Given the description of an element on the screen output the (x, y) to click on. 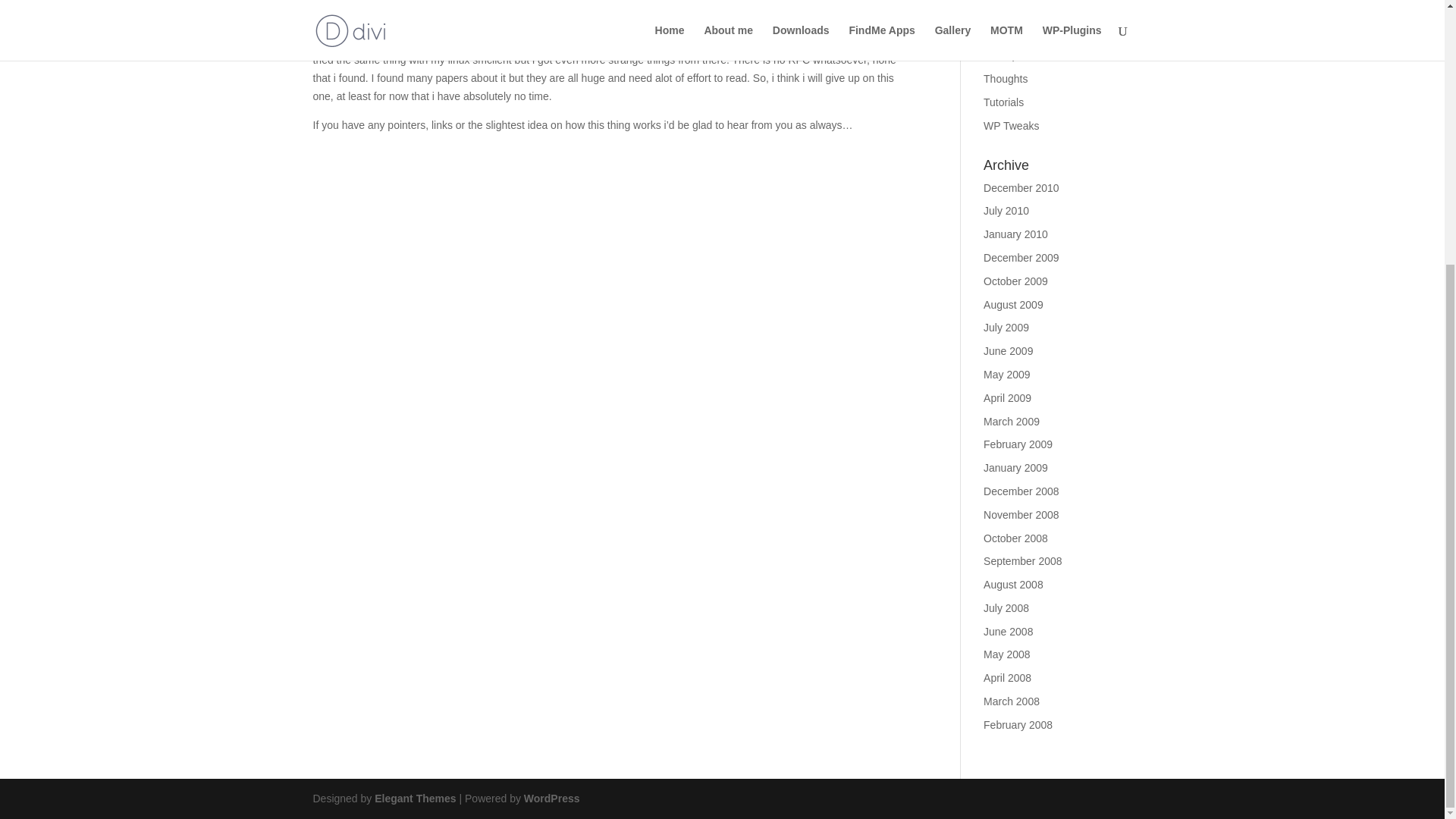
Quickies (1004, 32)
Photo quests (1014, 9)
Premium WordPress Themes (414, 798)
